Given the description of an element on the screen output the (x, y) to click on. 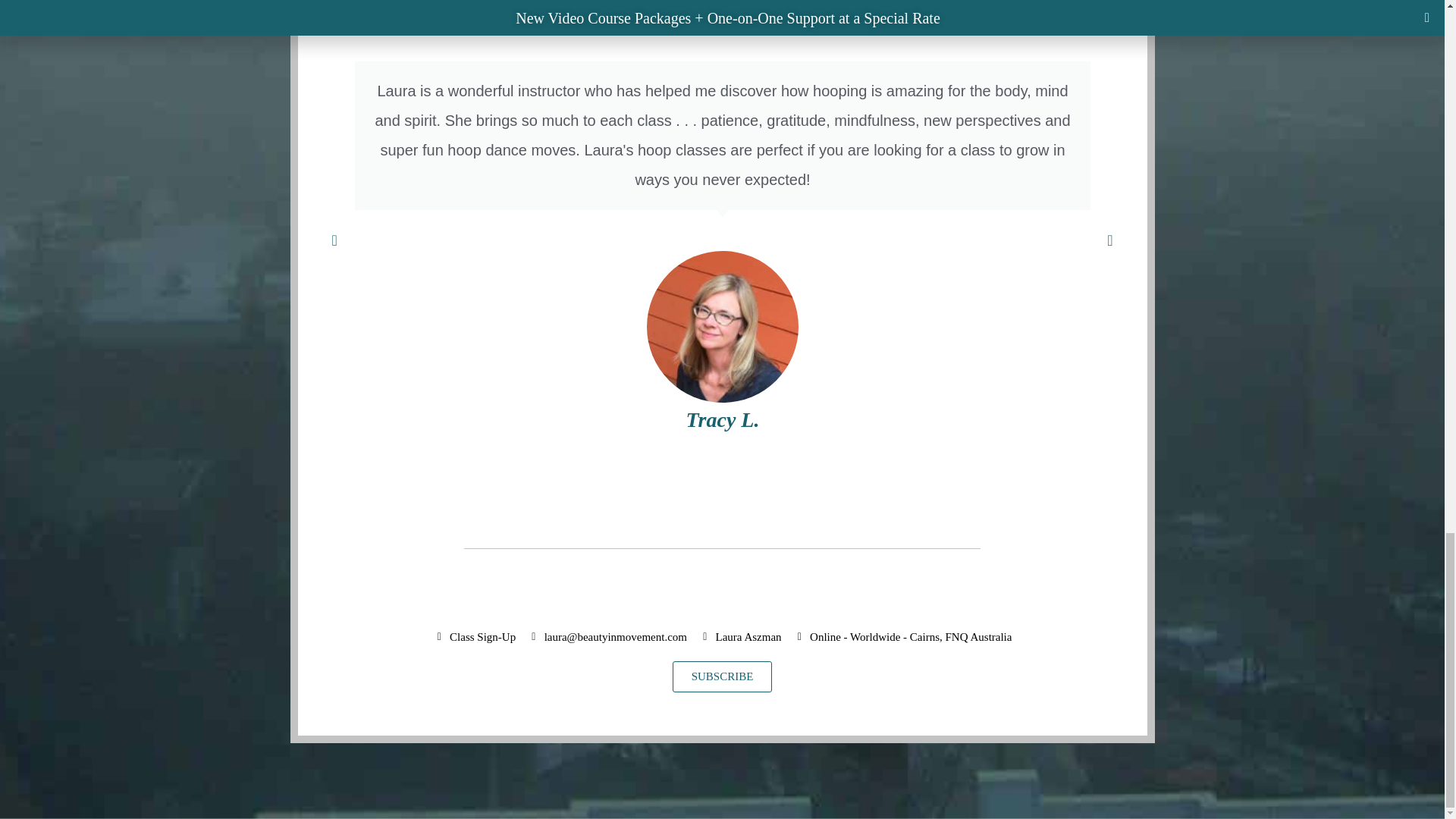
Class Sign-Up (474, 637)
SUBSCRIBE (722, 676)
